Given the description of an element on the screen output the (x, y) to click on. 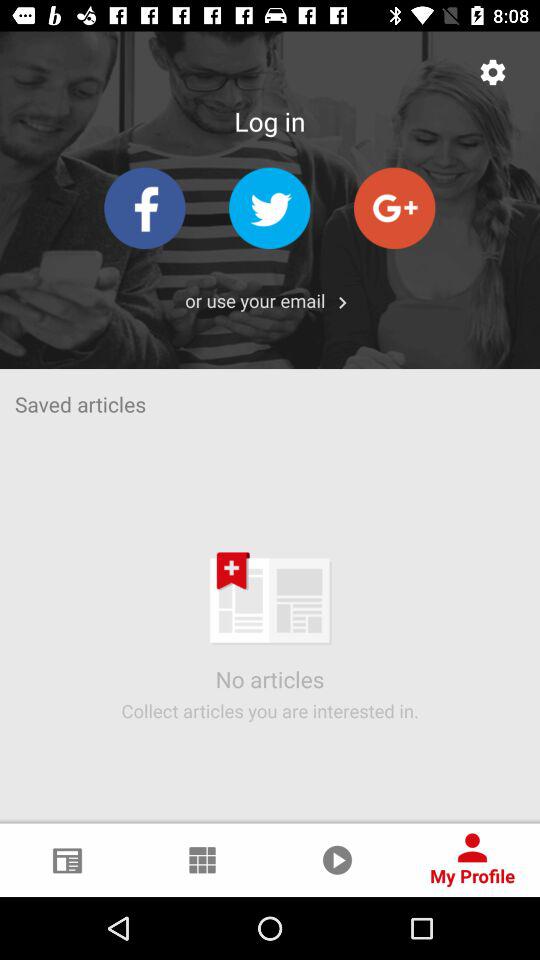
twitter option (269, 208)
